Given the description of an element on the screen output the (x, y) to click on. 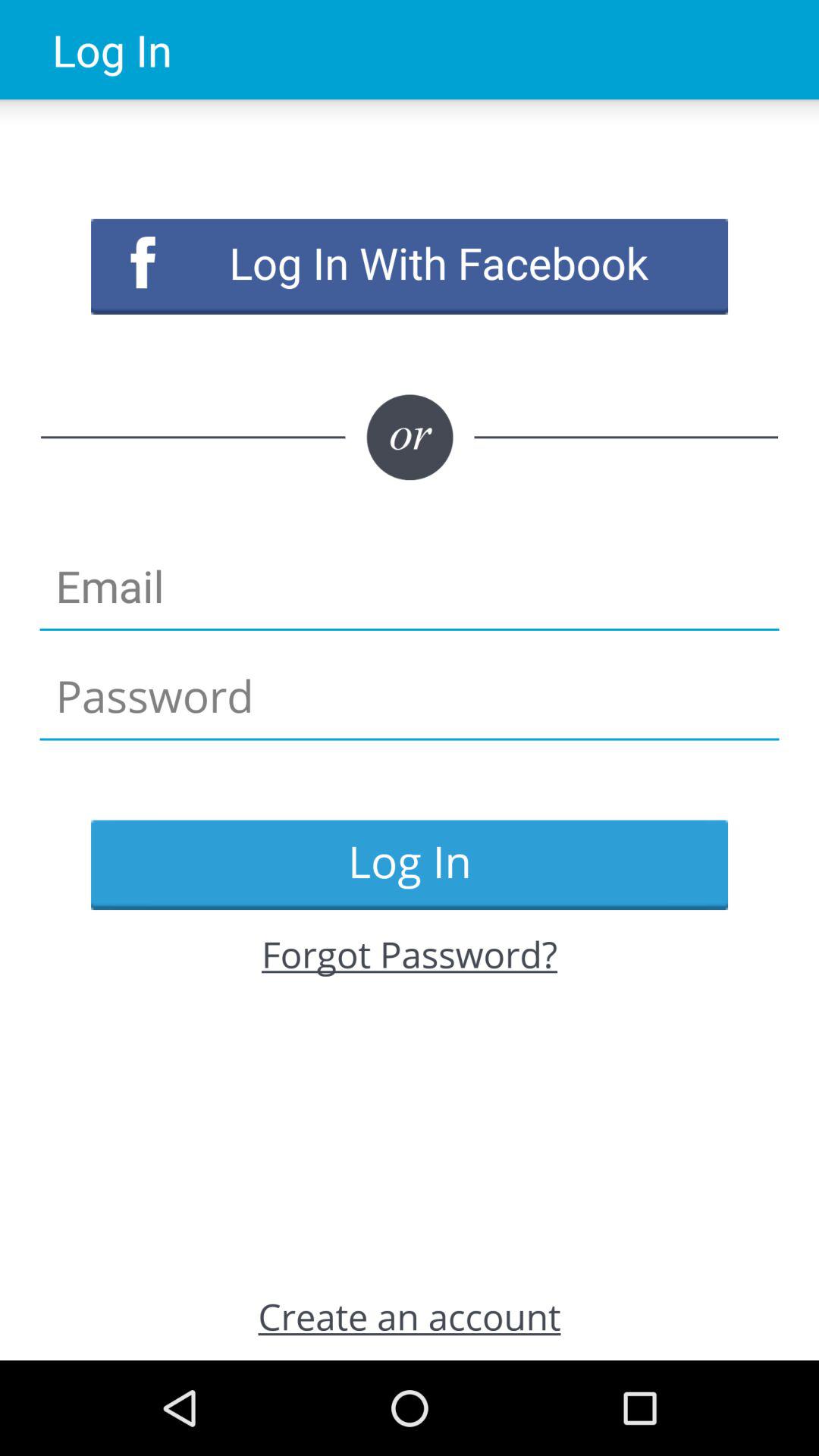
choose the icon at the bottom (409, 1316)
